Given the description of an element on the screen output the (x, y) to click on. 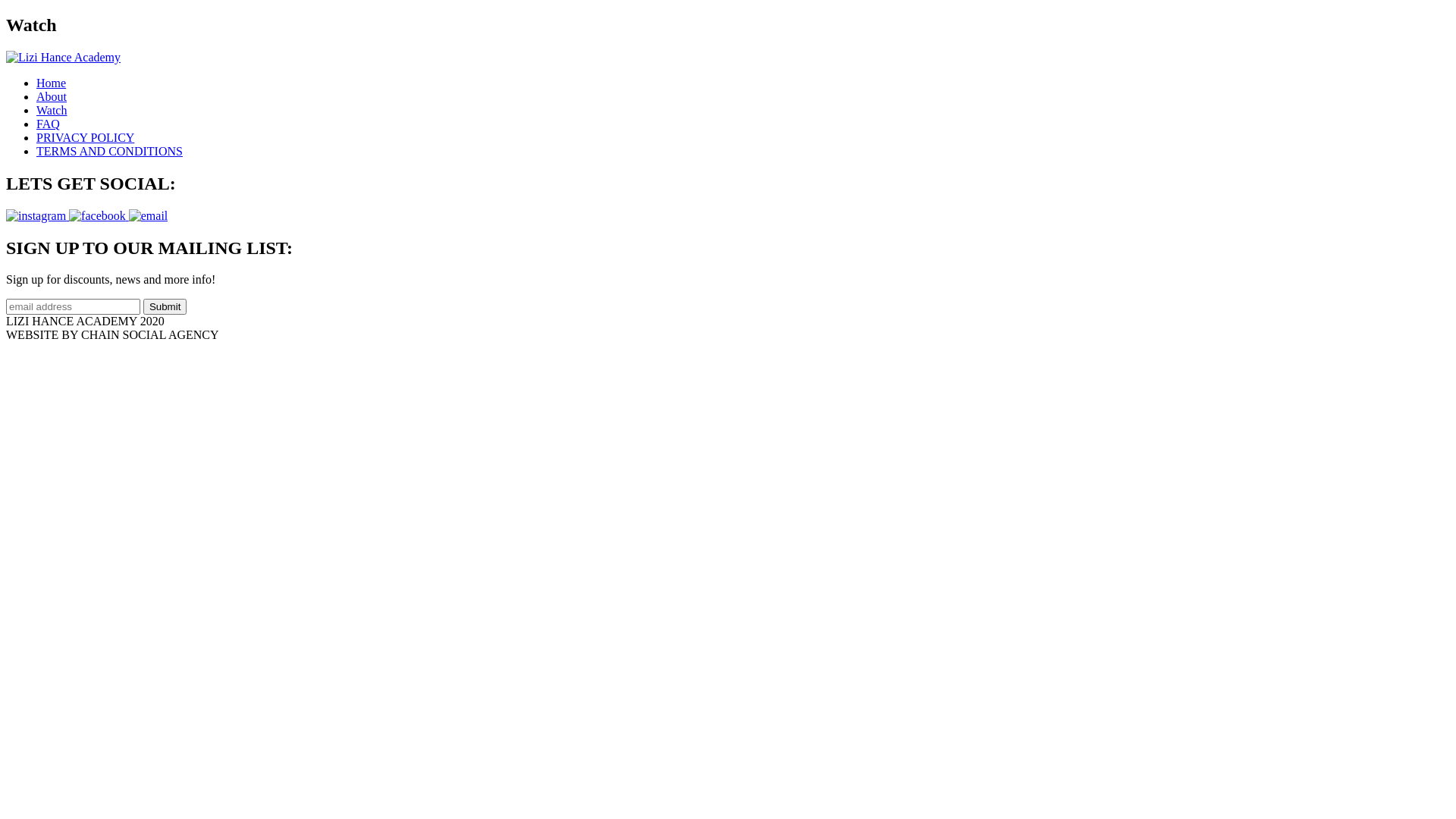
FAQ Element type: text (47, 123)
TERMS AND CONDITIONS Element type: text (109, 150)
Home Element type: text (50, 82)
About Element type: text (51, 96)
Watch Element type: text (51, 109)
Submit Element type: text (164, 306)
PRIVACY POLICY Element type: text (85, 137)
